Given the description of an element on the screen output the (x, y) to click on. 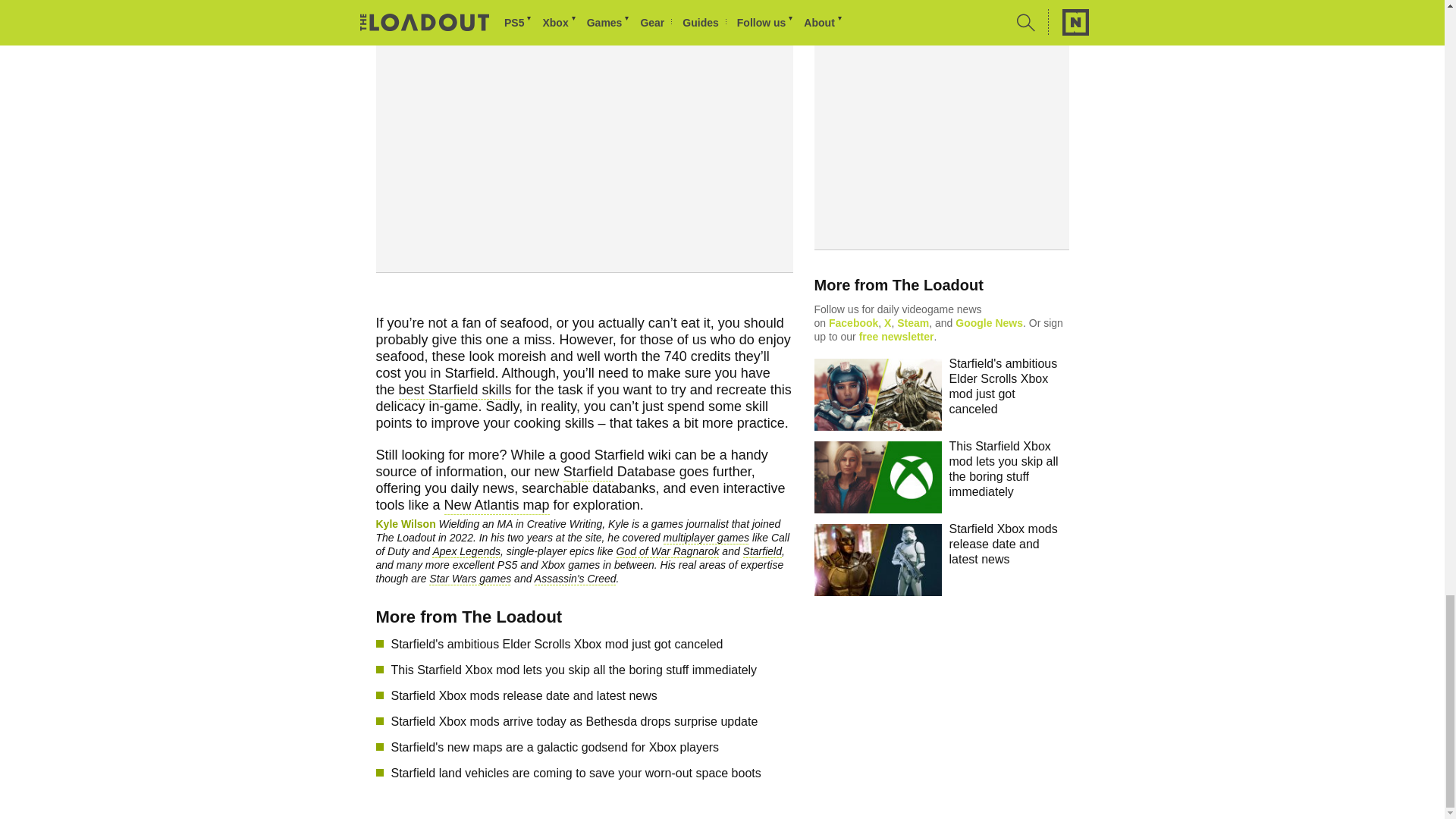
Starfield Xbox mods release date and latest news (729, 696)
